Given the description of an element on the screen output the (x, y) to click on. 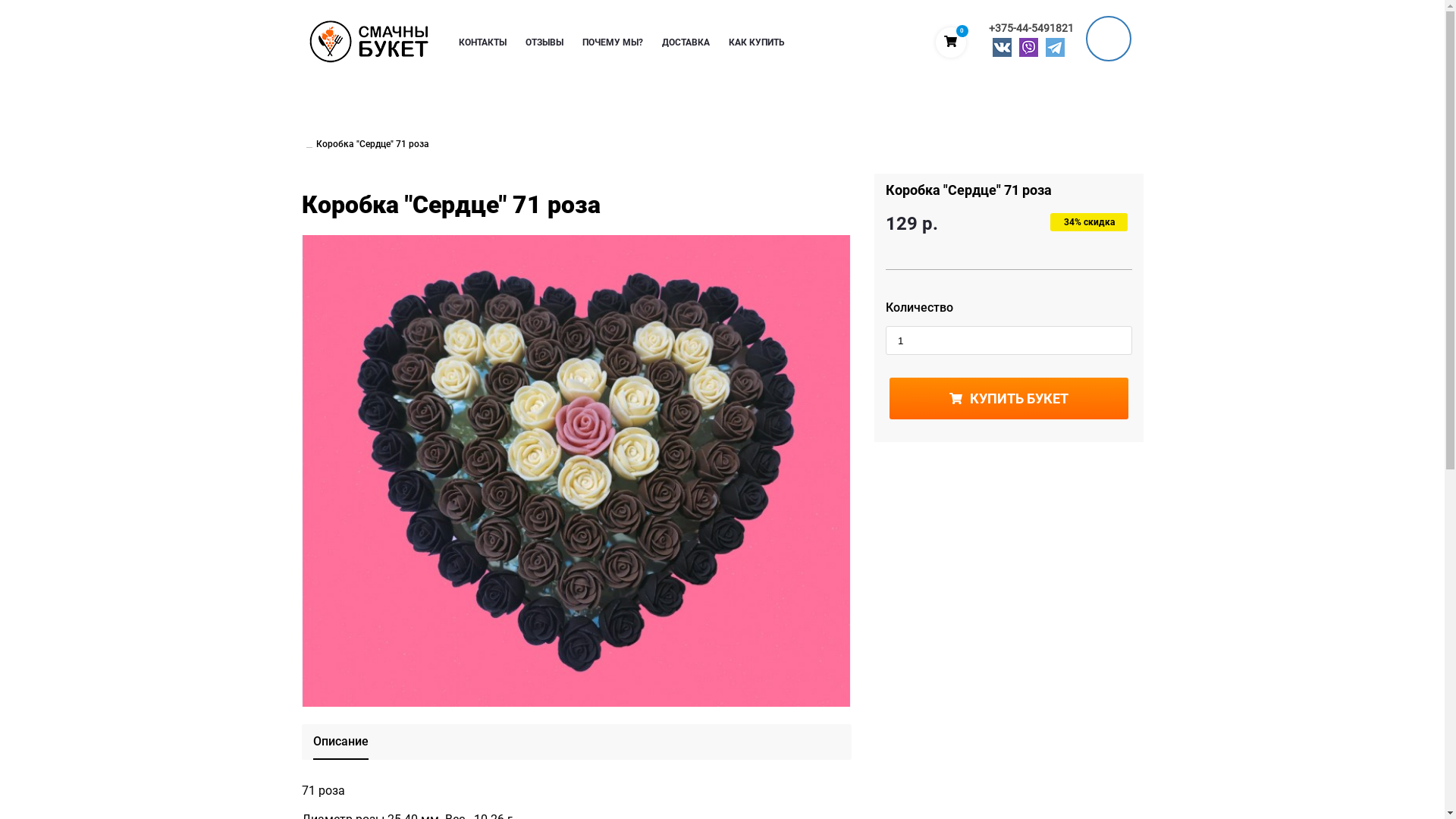
Telegram Element type: hover (1054, 48)
+375-44-5491821 Element type: text (1030, 27)
Viber Element type: hover (1027, 48)
0 Element type: text (950, 42)
